Given the description of an element on the screen output the (x, y) to click on. 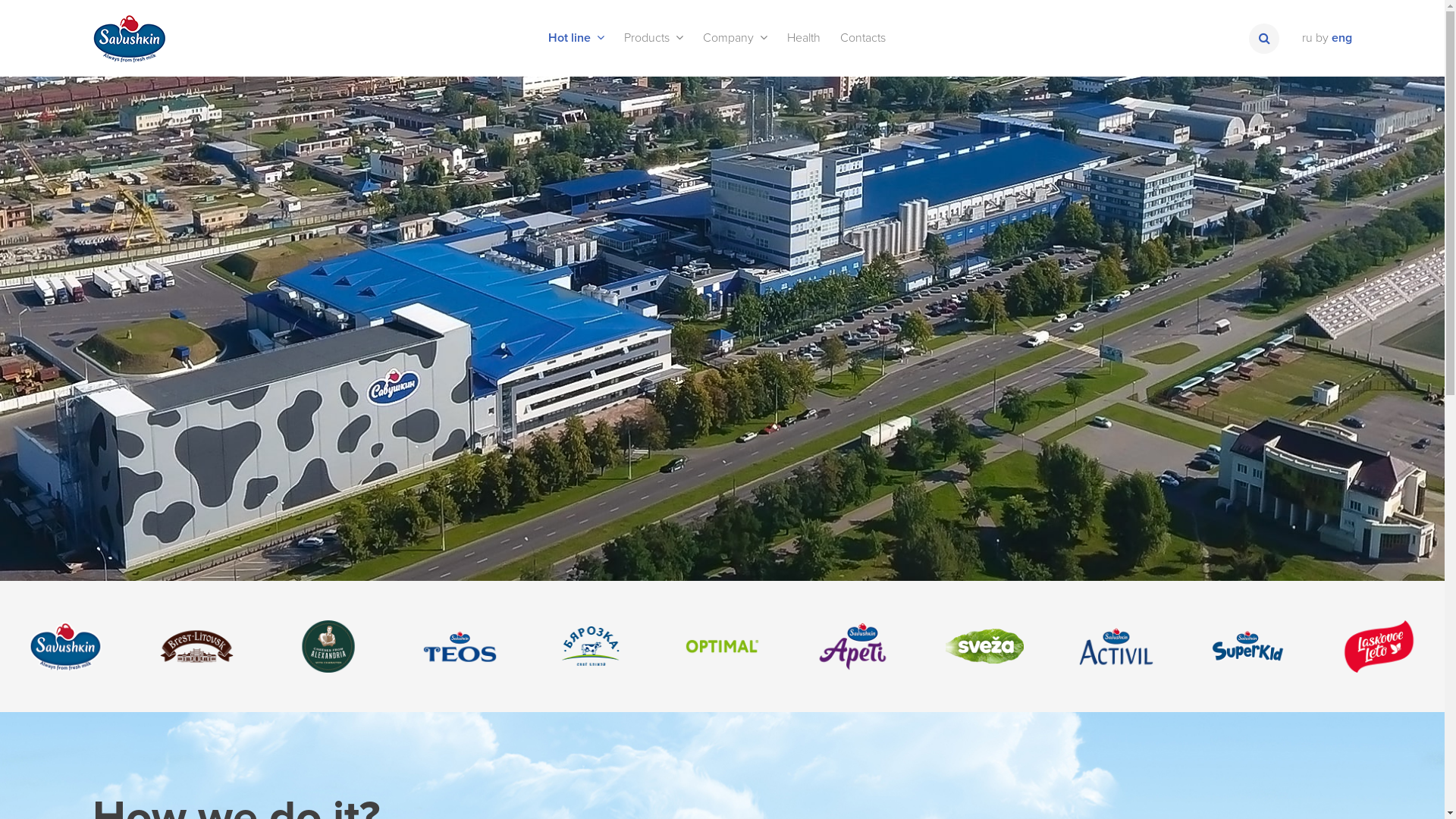
Contacts Element type: text (861, 37)
Company Element type: text (735, 37)
Health Element type: text (802, 37)
Hot line Element type: text (576, 37)
by Element type: text (1321, 37)
Savushkin_logo_eng.png Element type: hover (129, 37)
Apeti Element type: hover (853, 646)
TEOS Element type: hover (459, 646)
Byarozka Element type: hover (591, 646)
Products Element type: text (653, 37)
Savushkin Element type: hover (65, 646)
Aktivil Element type: hover (1115, 646)
Brest-Litovsk Element type: hover (196, 646)
ru Element type: text (1307, 37)
Aktivil Element type: hover (1115, 646)
SuperKid Element type: hover (1247, 646)
Optimal Element type: hover (722, 646)
Aleksandriya Element type: hover (327, 646)
SuperKid Element type: hover (1247, 646)
Brest-Litovsk Element type: hover (196, 646)
TEOS Element type: hover (459, 646)
Apeti Element type: hover (853, 646)
Savushkin Element type: hover (65, 646)
Laskovoe leto Element type: hover (1378, 646)
Aleksandriya Element type: hover (327, 646)
Laskovoe leto Element type: hover (1378, 646)
eng Element type: text (1341, 37)
Byarozka Element type: hover (590, 646)
Optimal Element type: hover (721, 646)
